Given the description of an element on the screen output the (x, y) to click on. 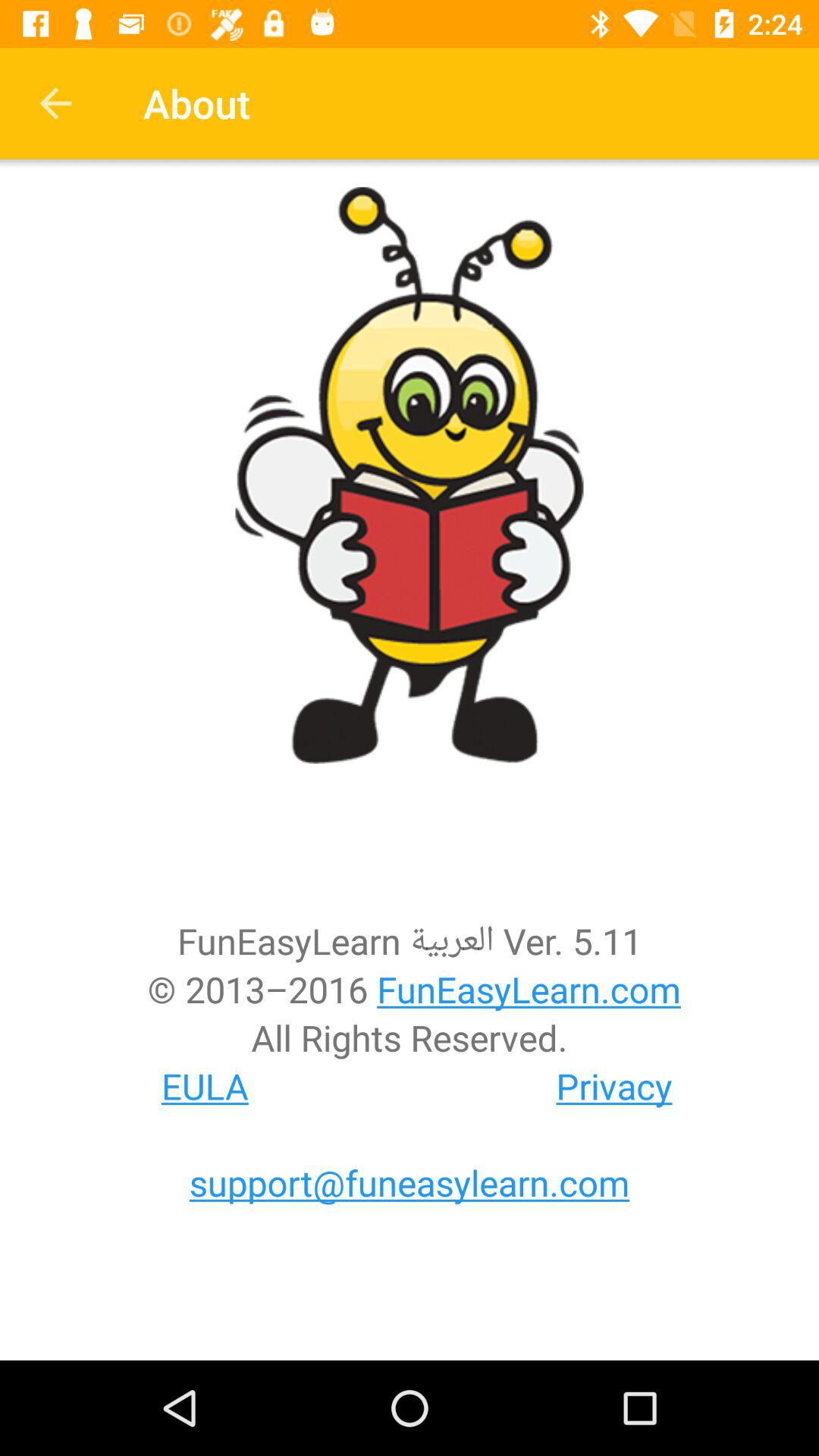
launch item to the left of about item (55, 103)
